Given the description of an element on the screen output the (x, y) to click on. 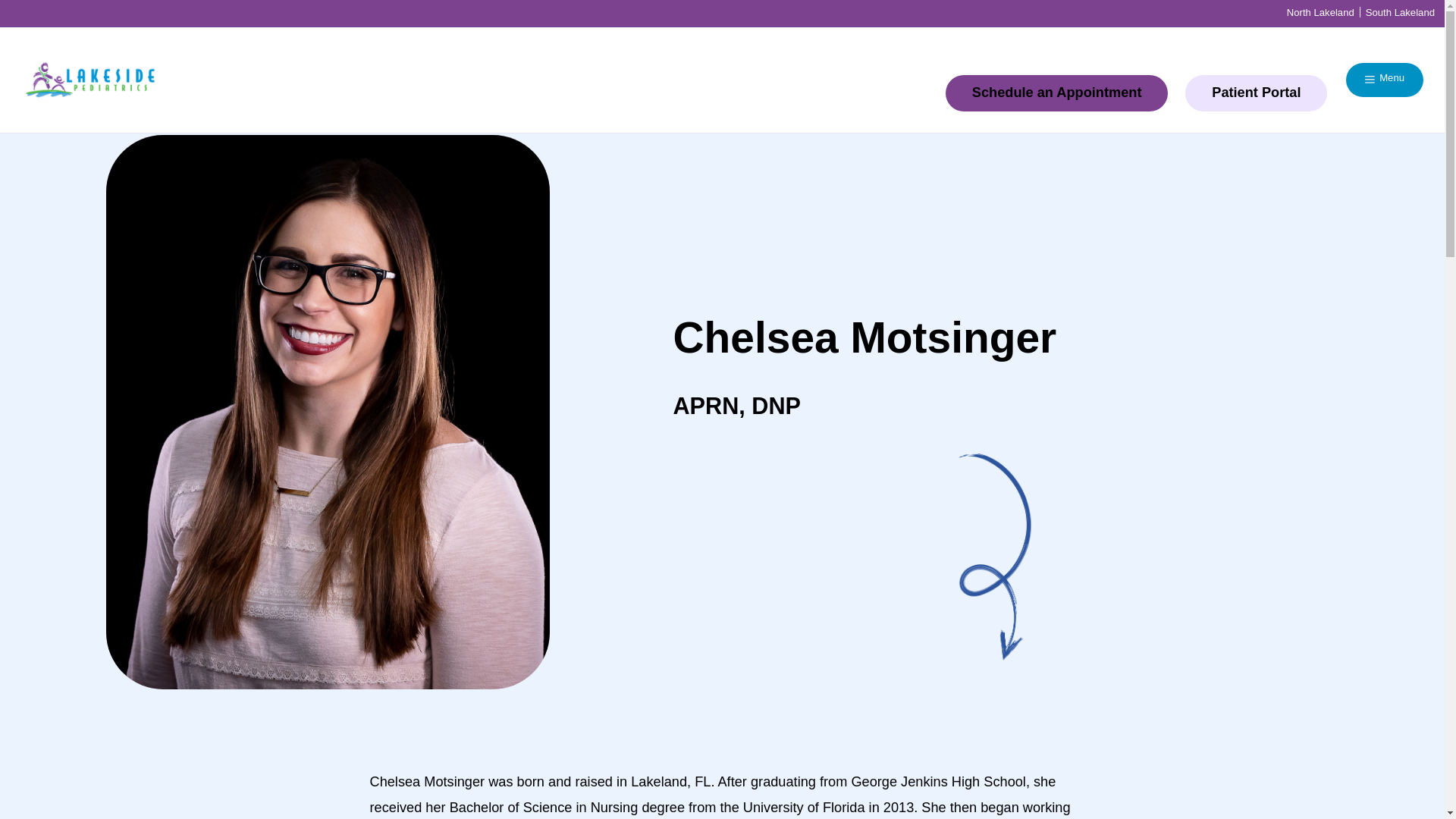
South Lakeland (1399, 11)
Schedule an Appointment (1056, 92)
Patient Portal (1255, 92)
North Lakeland (1320, 11)
